Given the description of an element on the screen output the (x, y) to click on. 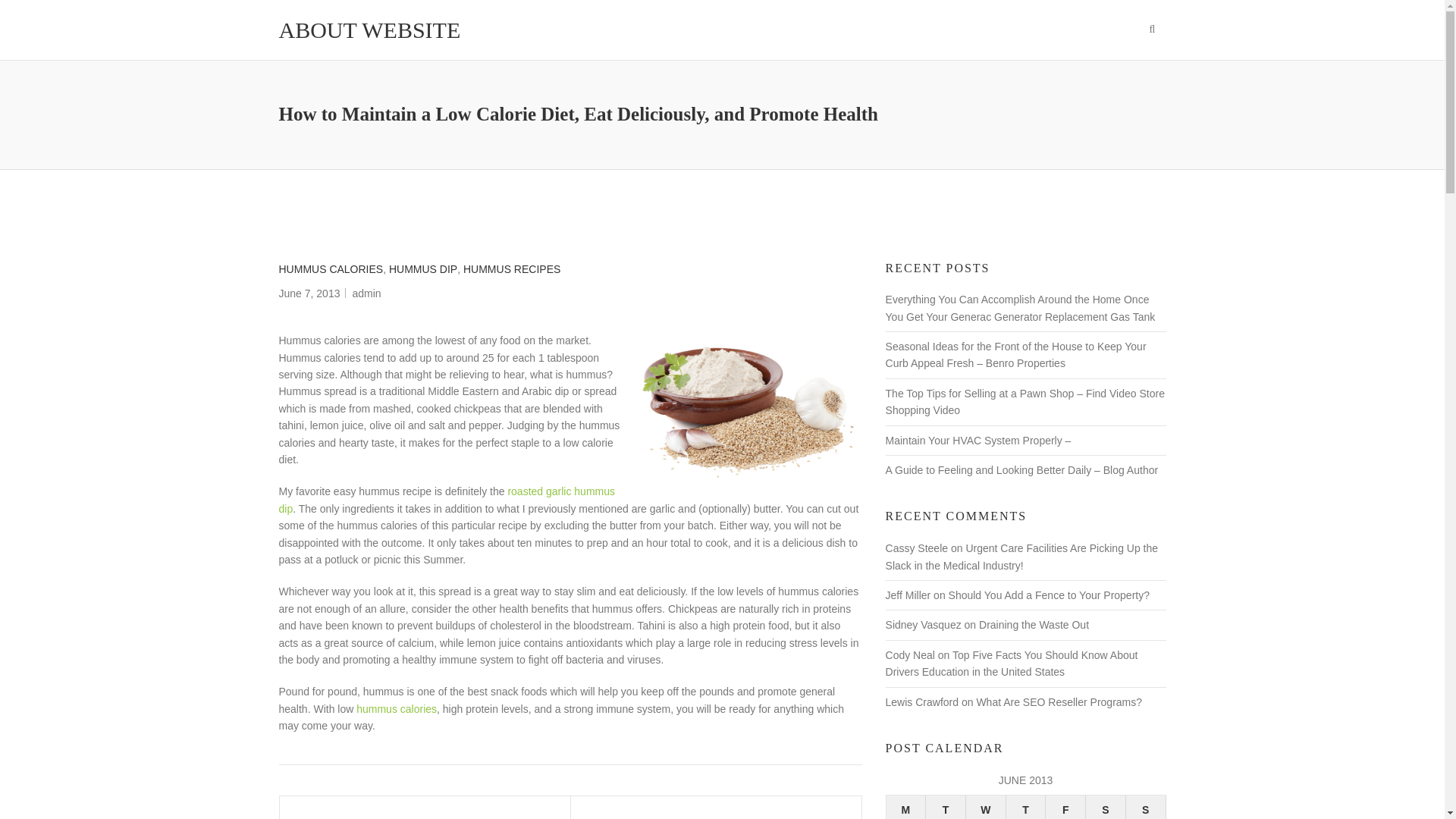
HUMMUS RECIPES (511, 269)
Learn some more (396, 708)
hummus calories (396, 708)
June 7, 2013 (309, 293)
HUMMUS DIP (422, 269)
HUMMUS CALORIES (331, 269)
Friday (1065, 807)
ABOUT WEBSITE (370, 30)
roasted garlic hummus dip (447, 499)
Saturday (1105, 807)
